Given the description of an element on the screen output the (x, y) to click on. 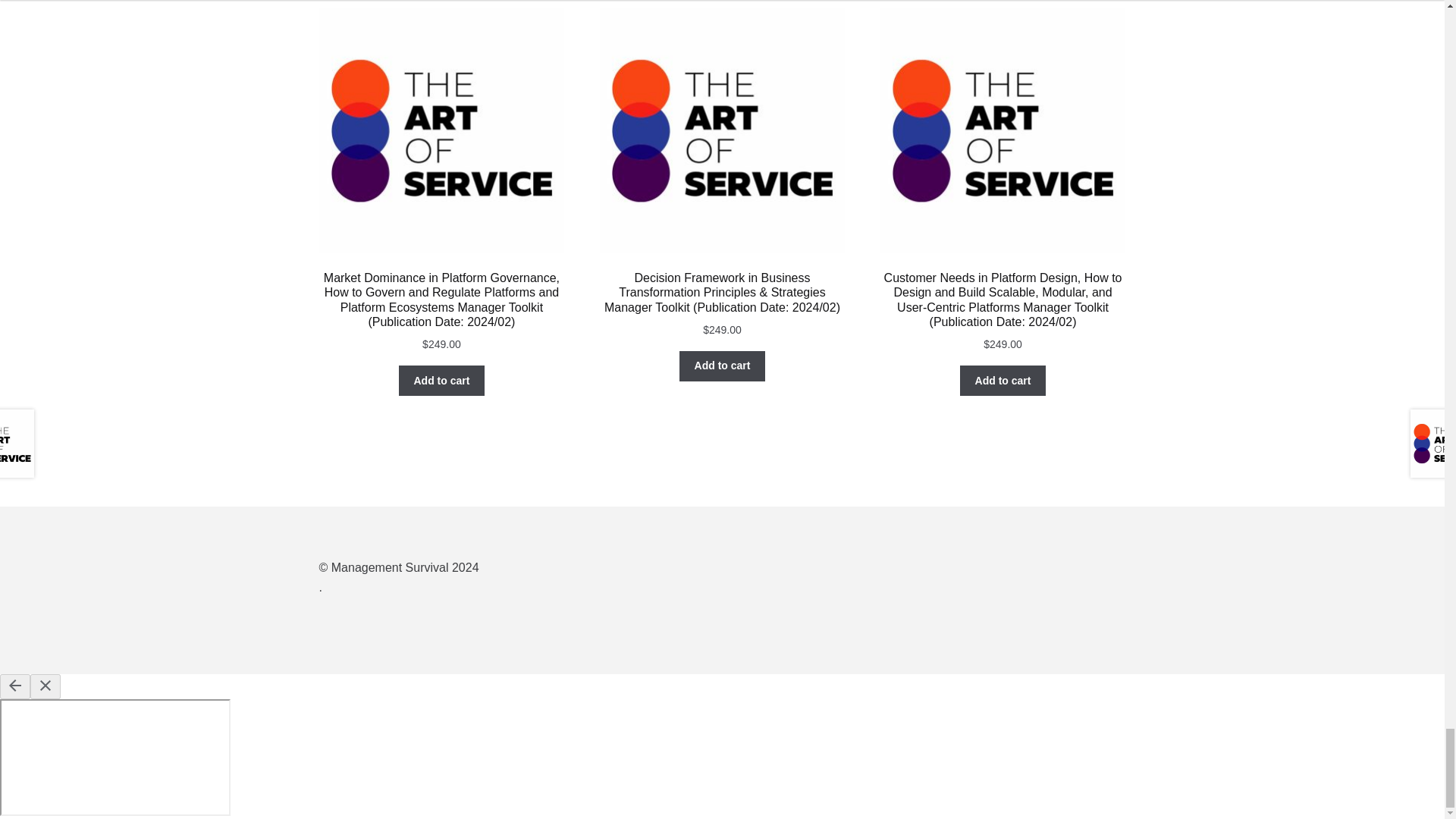
Add to cart (441, 380)
Add to cart (1002, 380)
Add to cart (722, 366)
